Given the description of an element on the screen output the (x, y) to click on. 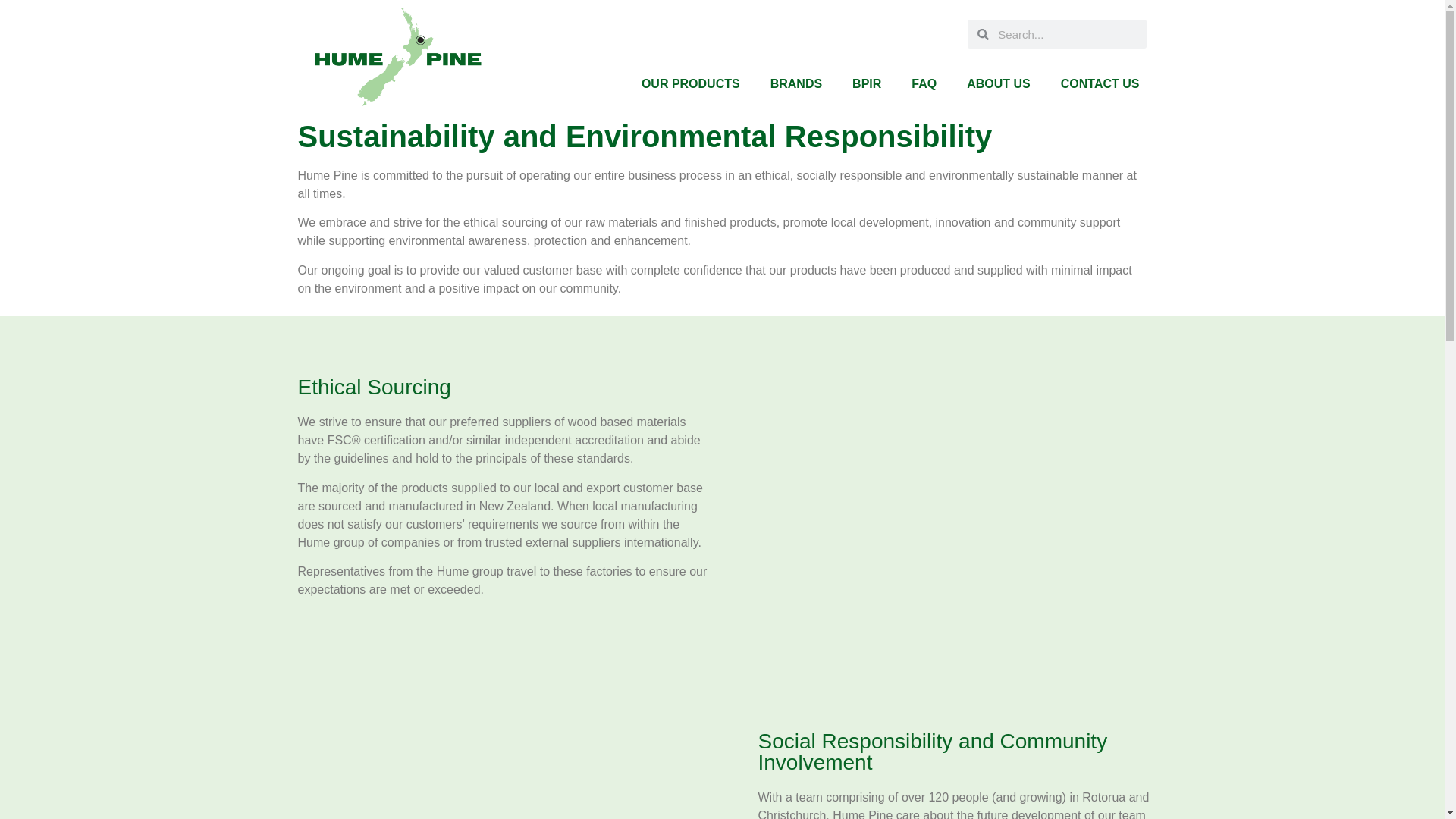
CONTACT US (1099, 83)
OUR PRODUCTS (690, 83)
ABOUT US (998, 83)
FAQ (924, 83)
BPIR (866, 83)
BRANDS (796, 83)
